Given the description of an element on the screen output the (x, y) to click on. 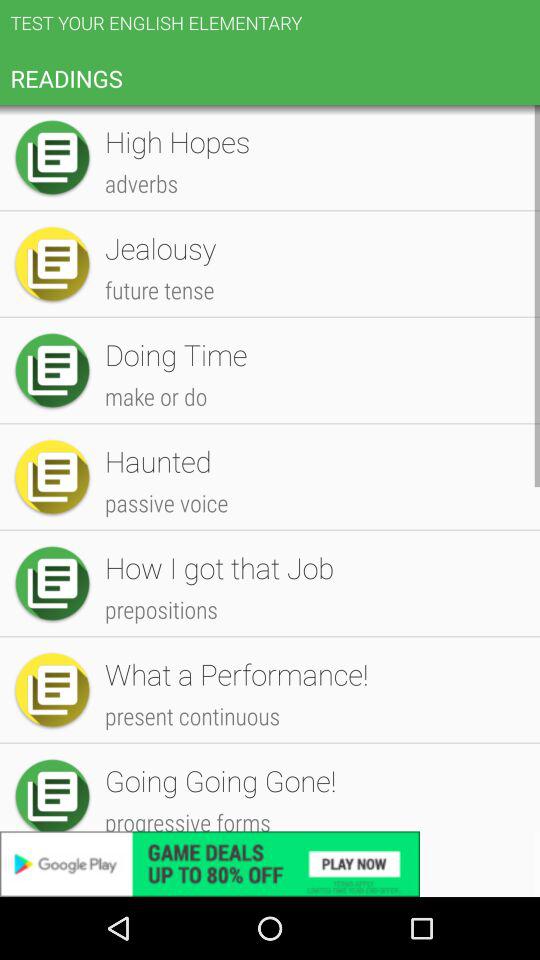
choose the listening tests icon (311, 705)
